Given the description of an element on the screen output the (x, y) to click on. 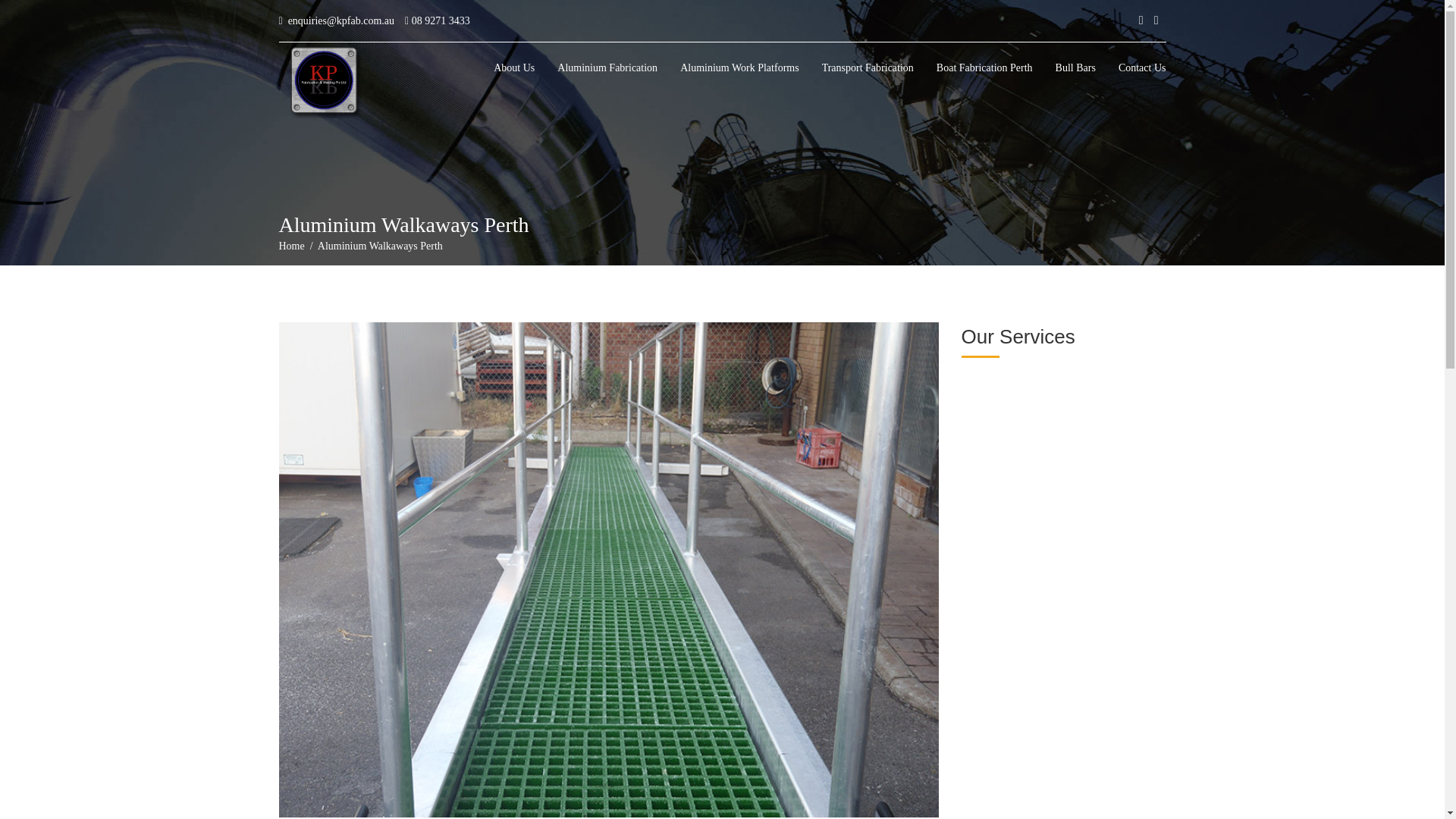
Contact Us (1141, 68)
Bull Bars (1074, 68)
Transport Fabrication (867, 68)
Boat Fabrication Perth (983, 68)
About Us (513, 68)
Aluminium Fabrication (607, 68)
Aluminium Work Platforms (739, 68)
 08 9271 3433 (437, 20)
